Given the description of an element on the screen output the (x, y) to click on. 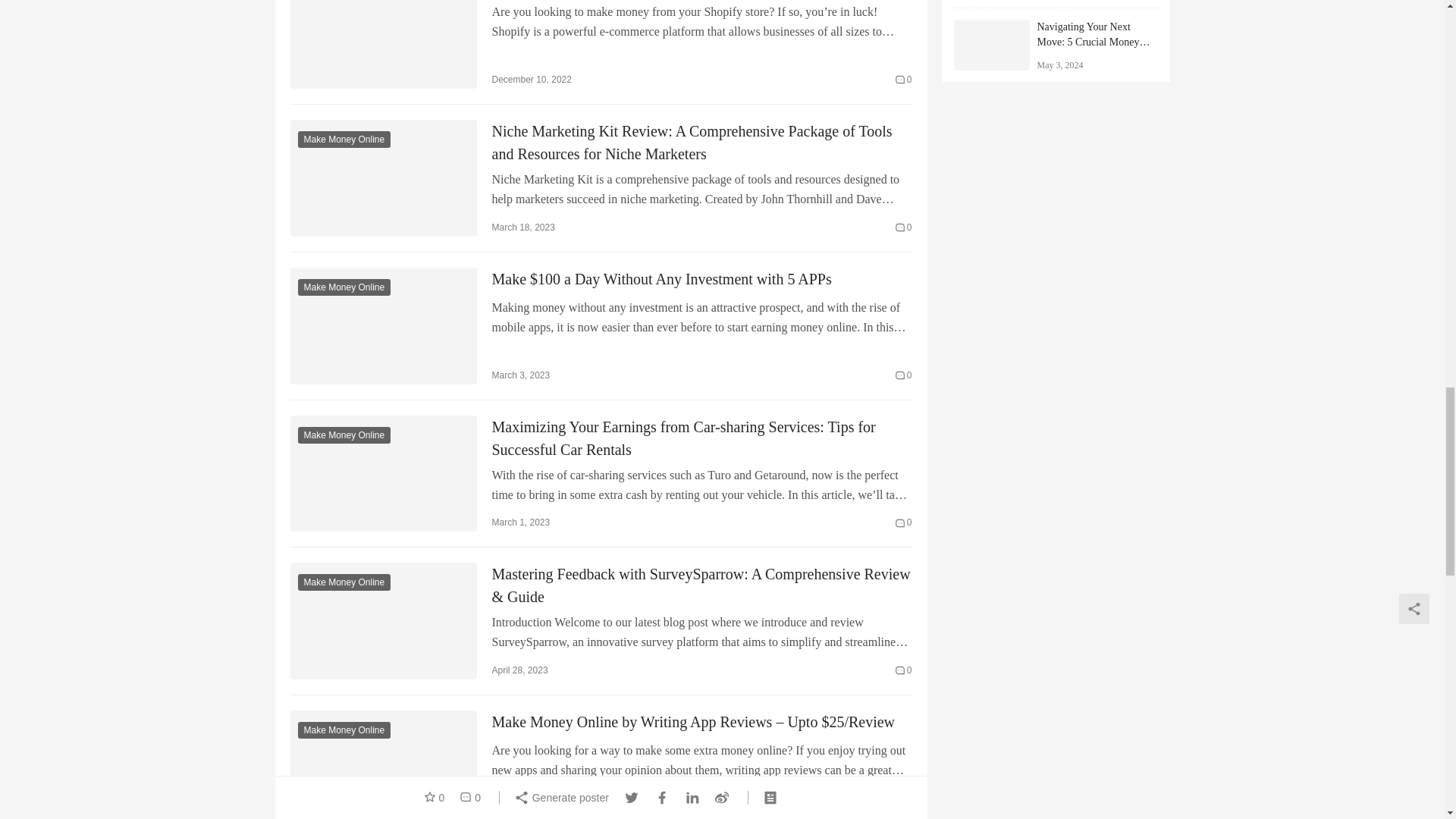
Comments (903, 669)
How to make money from shopify? (382, 44)
Comments (903, 375)
Comments (903, 79)
Comments (903, 227)
Comments (903, 522)
